Given the description of an element on the screen output the (x, y) to click on. 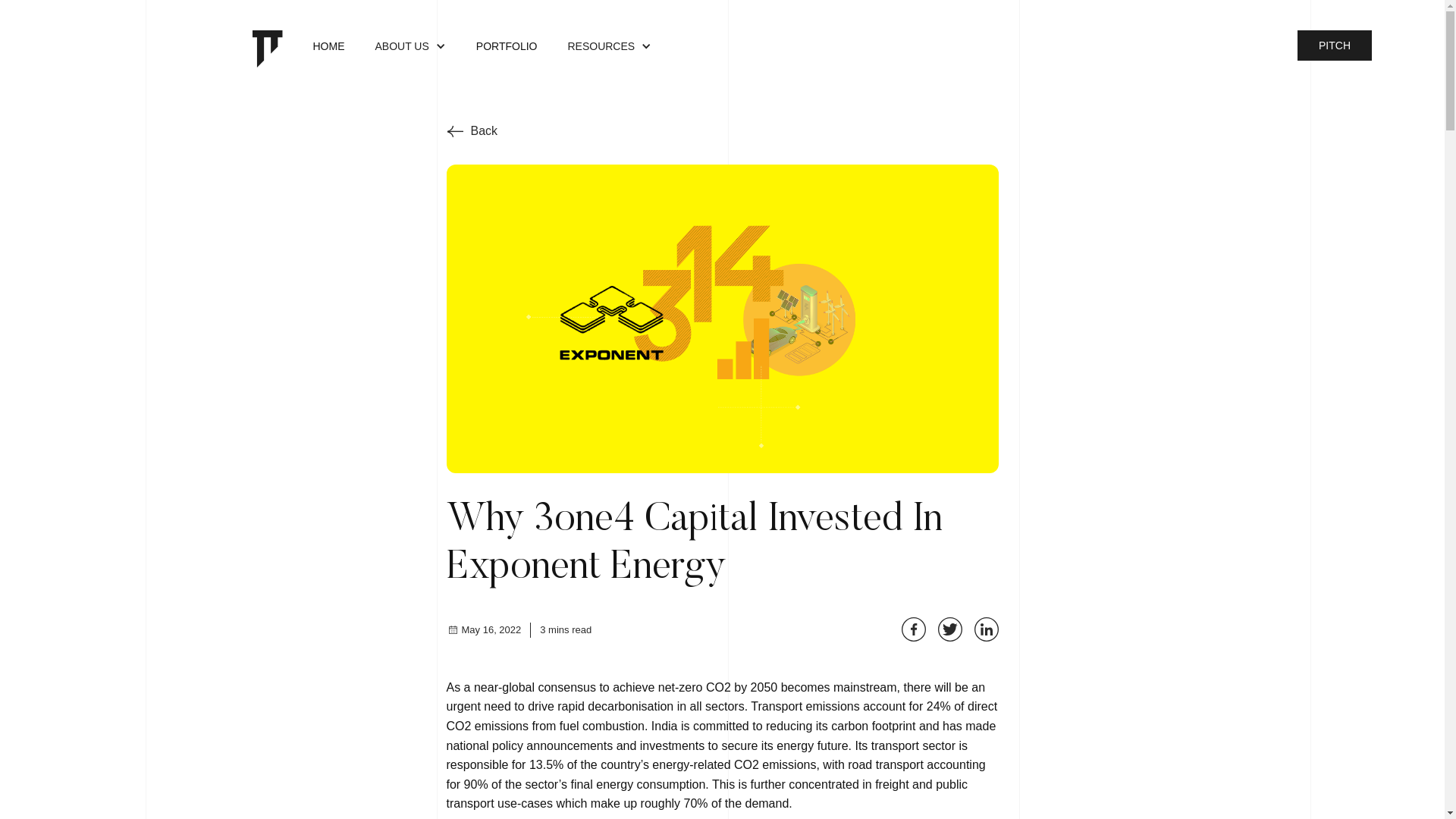
Share on Facebook Element type: hover (912, 629)
HOME Element type: text (328, 48)
PORTFOLIO Element type: text (506, 48)
Back Element type: text (471, 131)
Tweet Element type: hover (949, 629)
PITCH Element type: text (1334, 45)
Share on LinkedIn Element type: hover (985, 629)
